Given the description of an element on the screen output the (x, y) to click on. 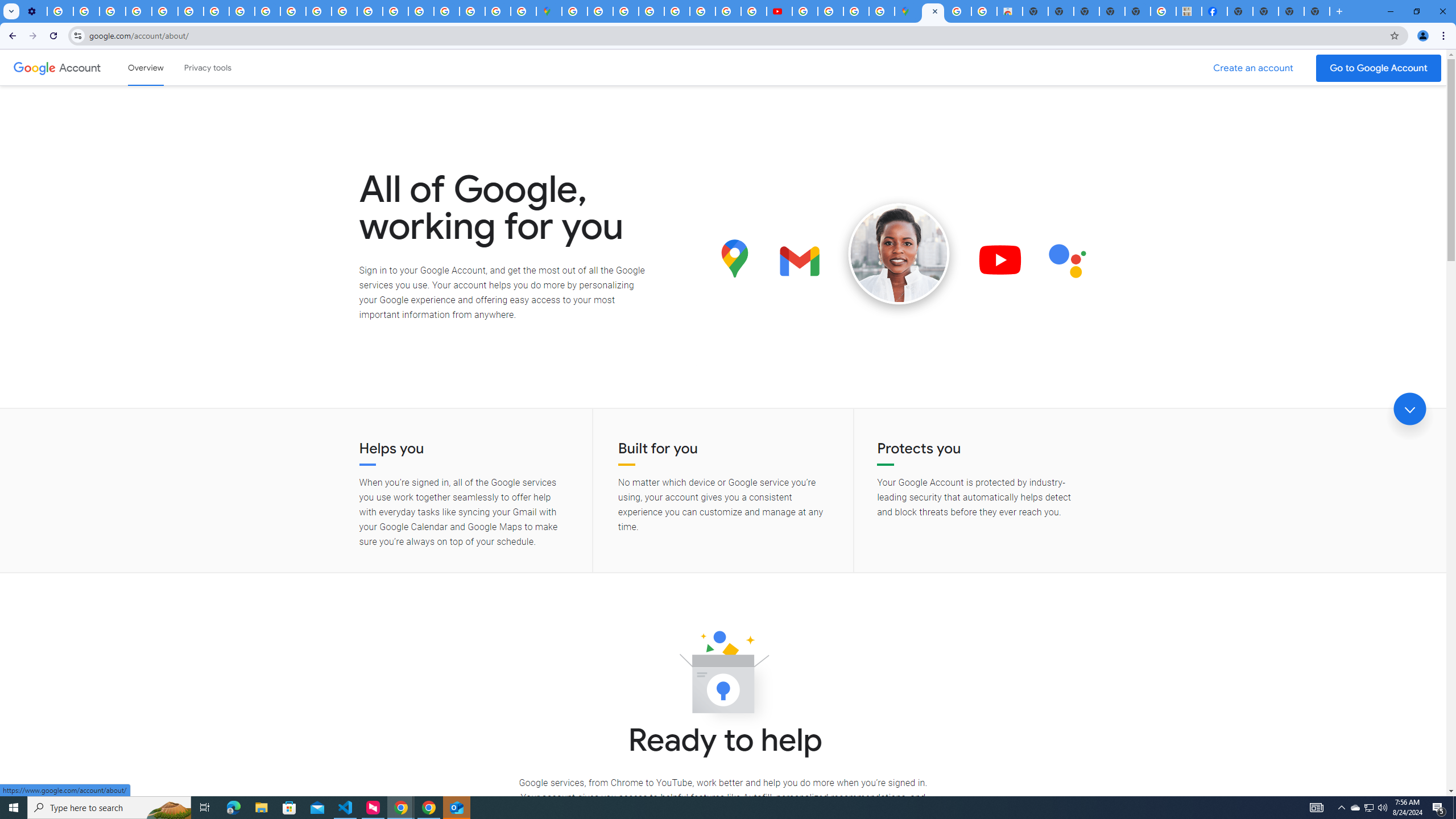
You (1422, 35)
Privacy Checkup (293, 11)
Learn how to find your photos - Google Photos Help (86, 11)
Google Maps (548, 11)
Google Account (80, 67)
Reload (52, 35)
Google logo (34, 67)
Google Maps (907, 11)
How Chrome protects your passwords - Google Chrome Help (804, 11)
